Given the description of an element on the screen output the (x, y) to click on. 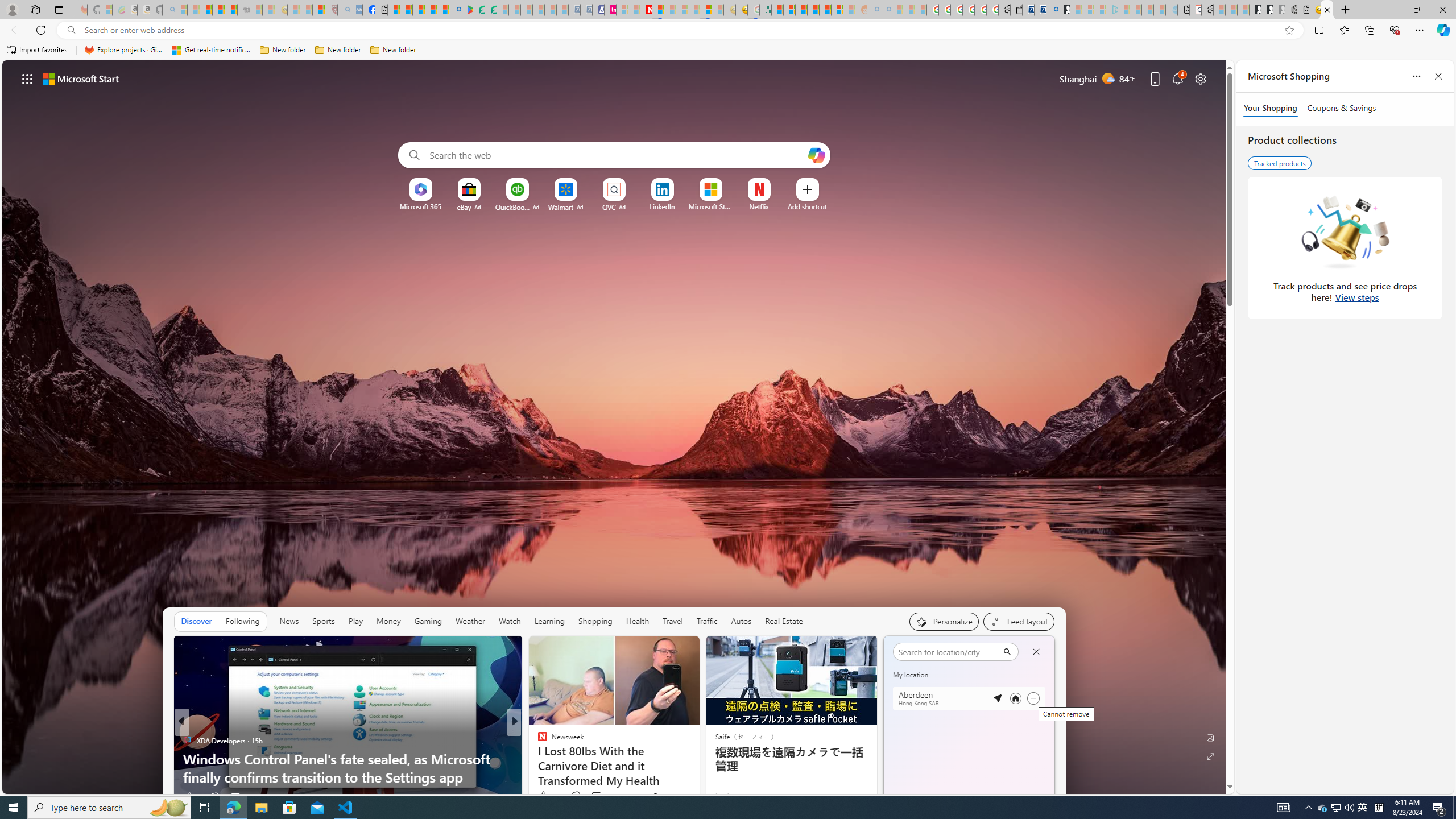
Body Network (537, 740)
Blake Lively's Go-To Dessert Is So Easy To Make (697, 777)
My location (934, 649)
View comments 18 Comment (589, 797)
